Given the description of an element on the screen output the (x, y) to click on. 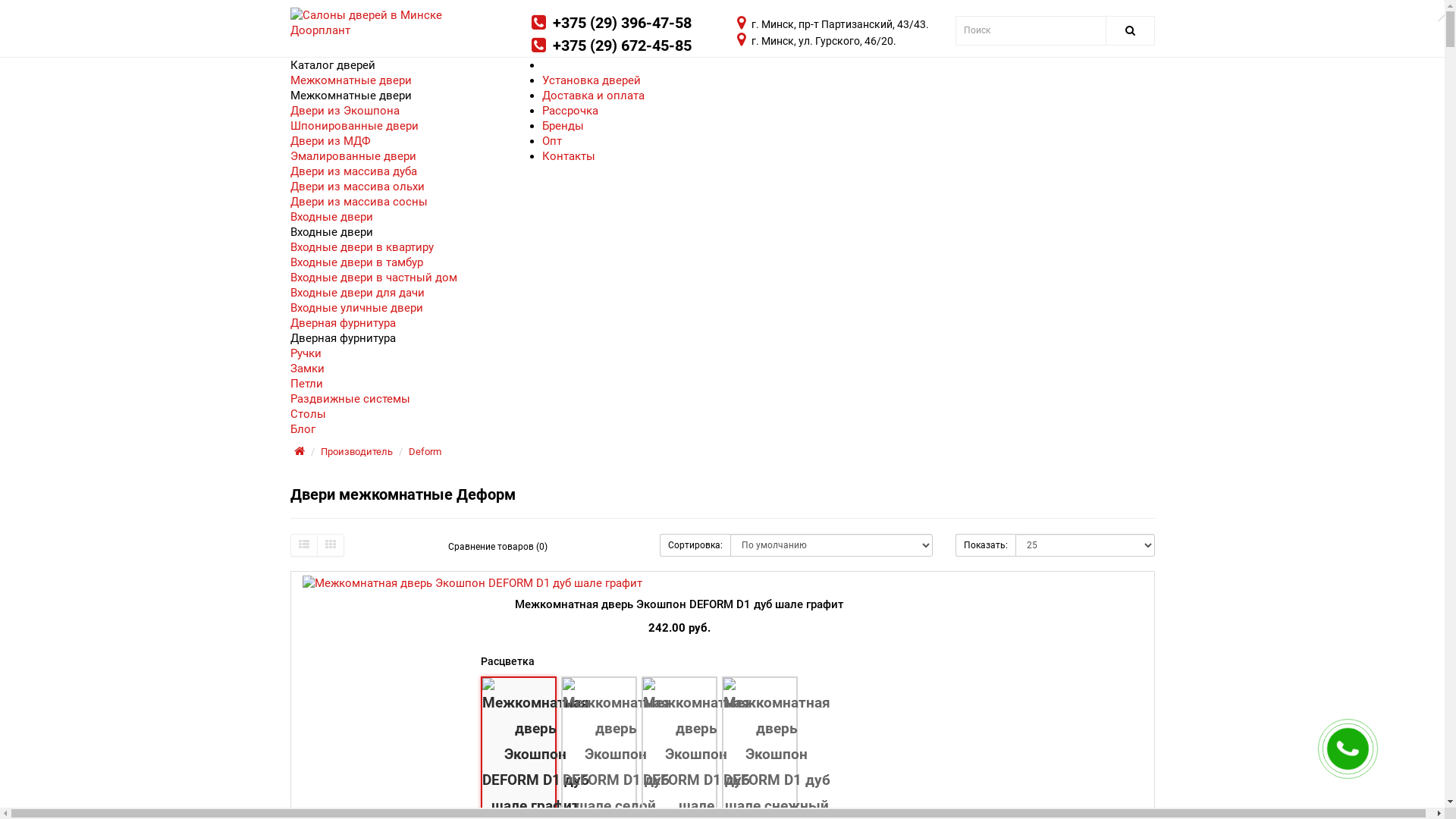
+375 (29) 672-45-85 Element type: text (621, 45)
+375 (29) 396-47-58 Element type: text (621, 22)
Deform Element type: text (423, 451)
